Given the description of an element on the screen output the (x, y) to click on. 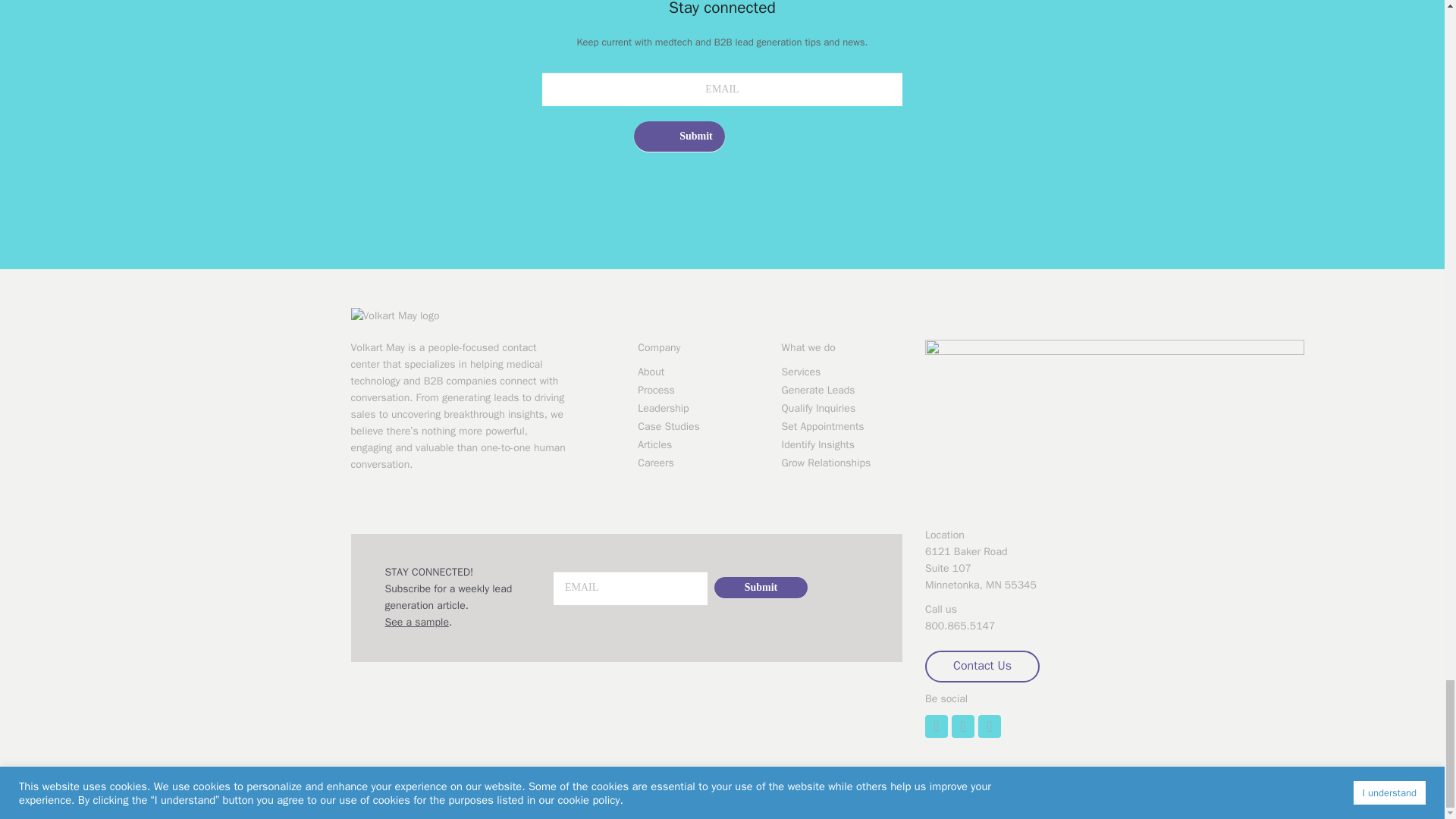
Submit (679, 136)
Grow Relationships (841, 462)
Leadership (697, 407)
Articles (697, 443)
Leadership (697, 407)
LinkedIn (935, 725)
Process (697, 389)
Case Studies (697, 425)
Identify Insights (841, 443)
Set Appointments (841, 425)
